Given the description of an element on the screen output the (x, y) to click on. 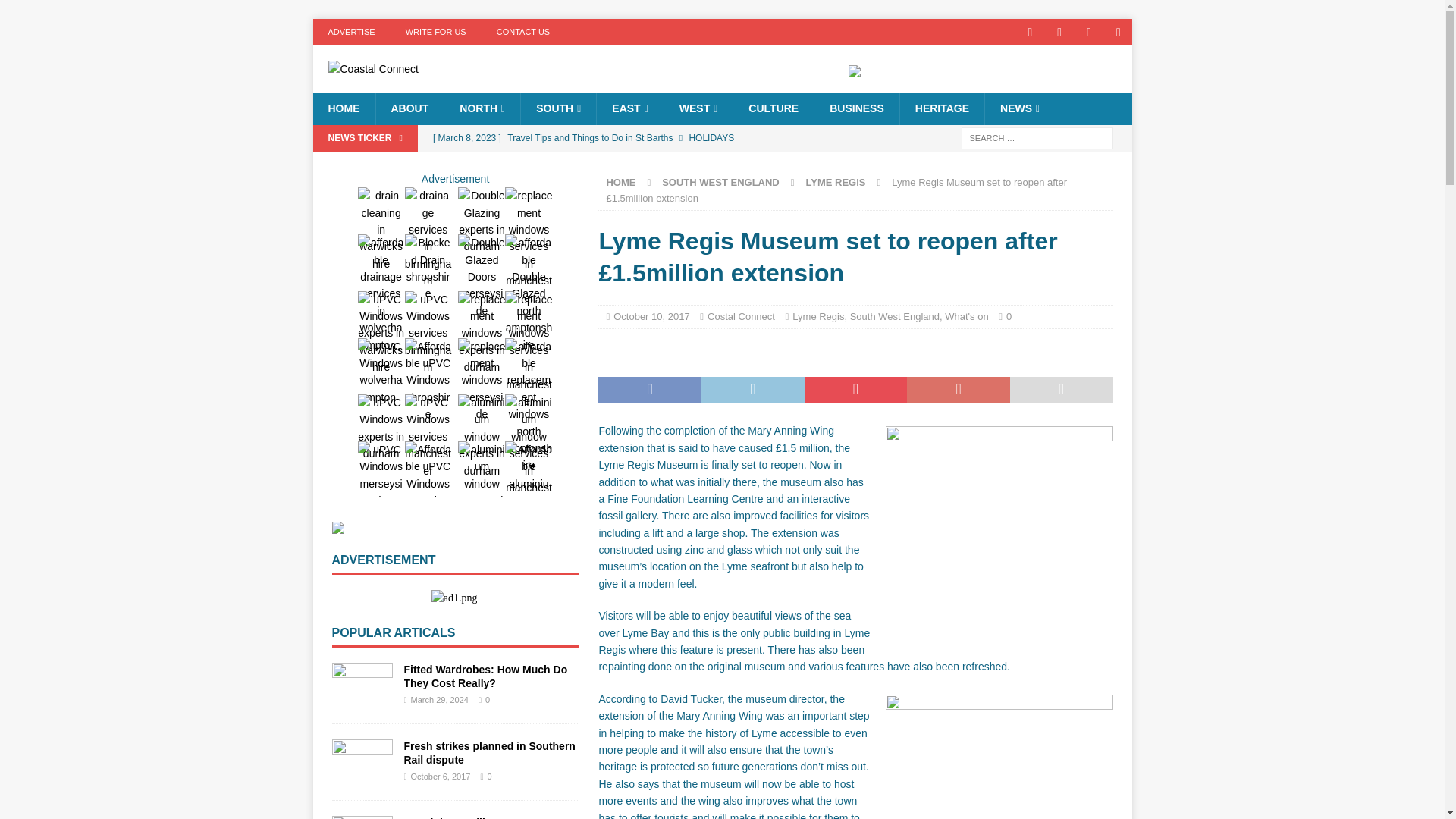
Travel Tips and Things to Do in St Barths (634, 137)
Learn About Turkish Travel Policies (634, 163)
WRITE FOR US (435, 31)
CONTACT US (523, 31)
ADVERTISE (351, 31)
